Given the description of an element on the screen output the (x, y) to click on. 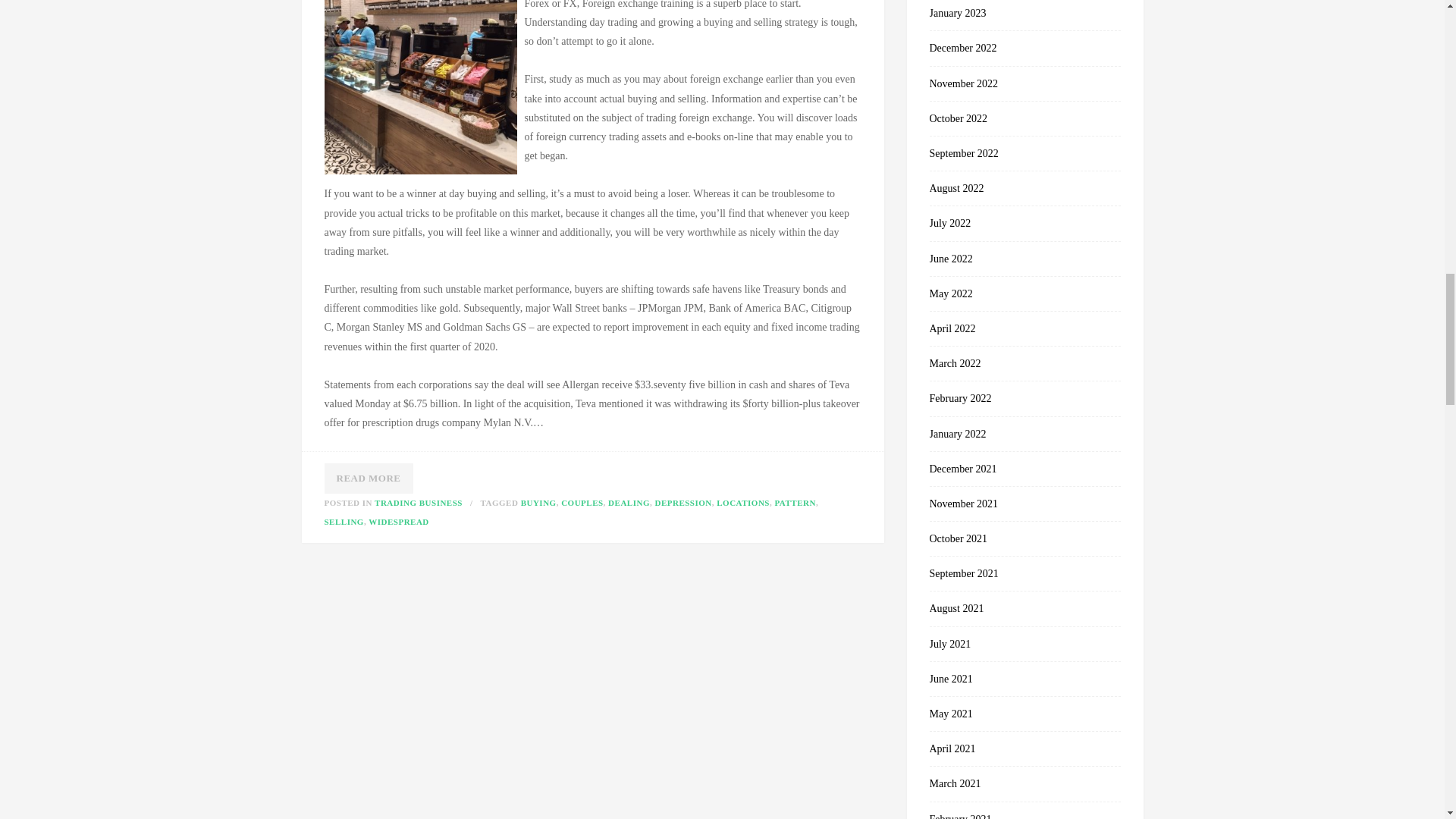
SELLING (344, 521)
LOCATIONS (743, 501)
TRADING BUSINESS (418, 501)
READ MORE (368, 478)
DEALING (628, 501)
WIDESPREAD (398, 521)
PATTERN (794, 501)
BUYING (538, 501)
DEPRESSION (682, 501)
COUPLES (581, 501)
